Given the description of an element on the screen output the (x, y) to click on. 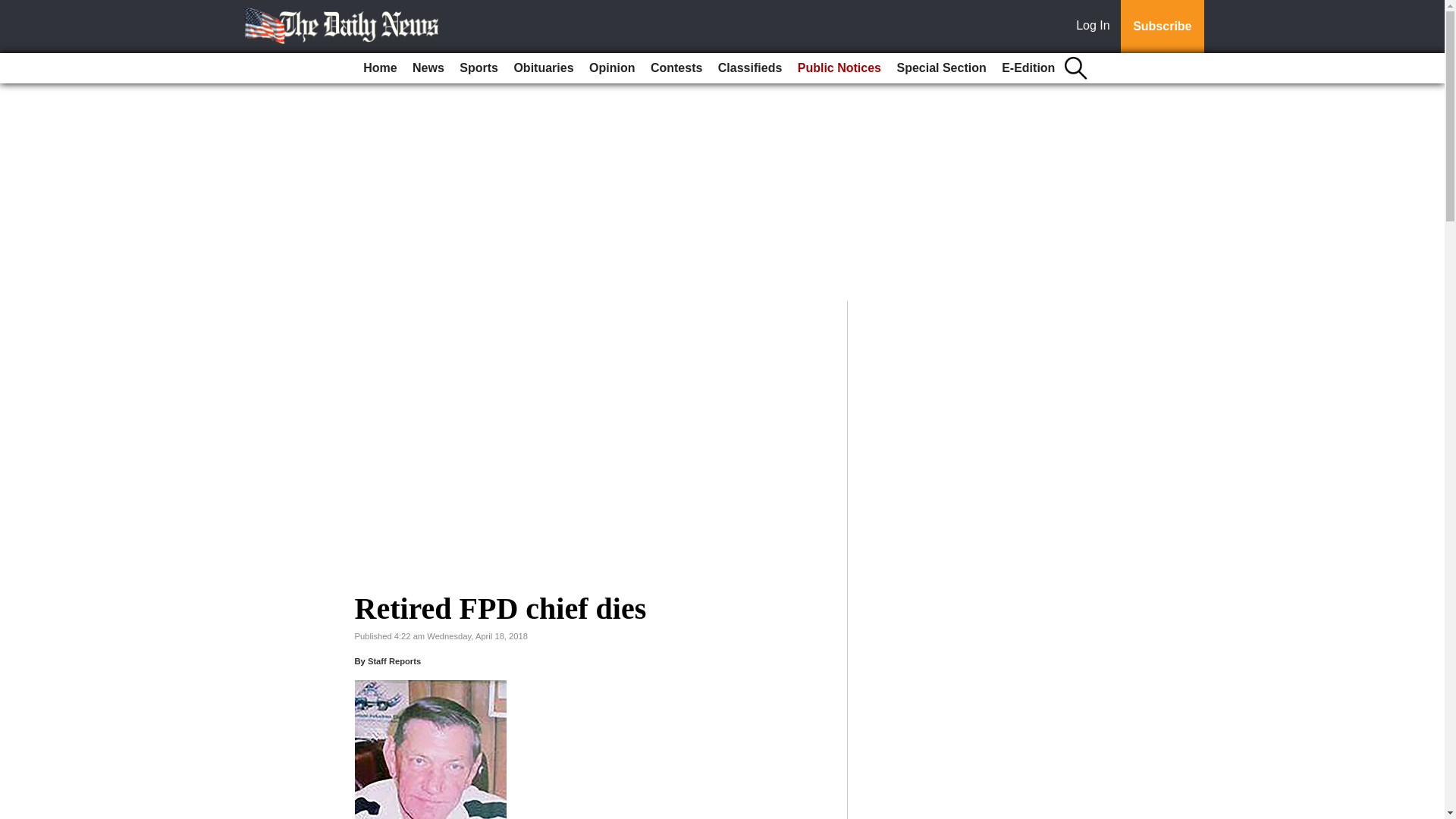
Home (379, 68)
E-Edition (1028, 68)
Log In (1095, 26)
Obituaries (542, 68)
Staff Reports (394, 660)
Special Section (940, 68)
News (427, 68)
Sports (477, 68)
Public Notices (839, 68)
Contests (676, 68)
Go (13, 9)
Opinion (611, 68)
Classifieds (749, 68)
Subscribe (1162, 26)
